Given the description of an element on the screen output the (x, y) to click on. 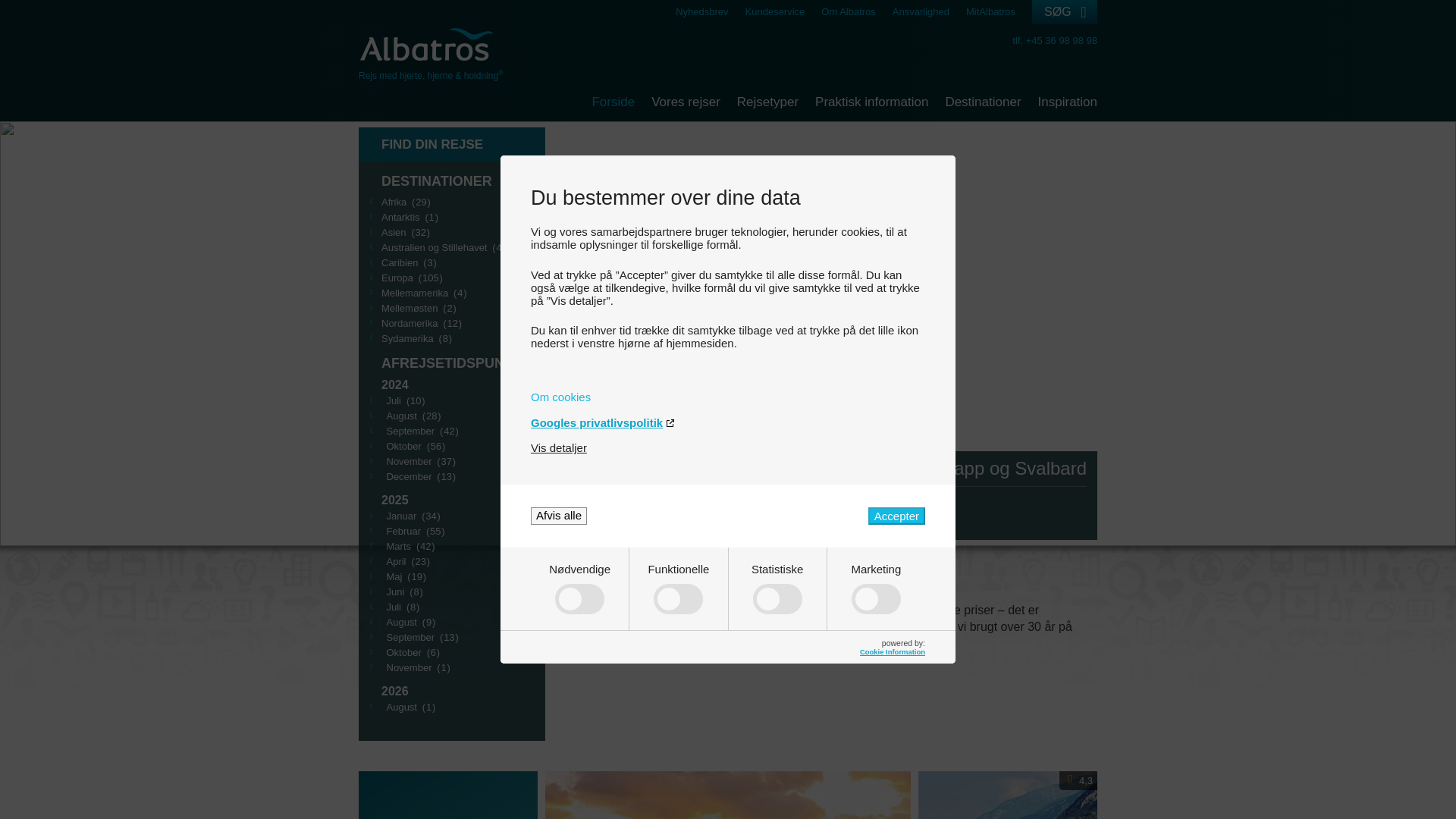
Vis detaljer (558, 447)
Googles privatlivspolitik (727, 422)
Om cookies (727, 396)
